Given the description of an element on the screen output the (x, y) to click on. 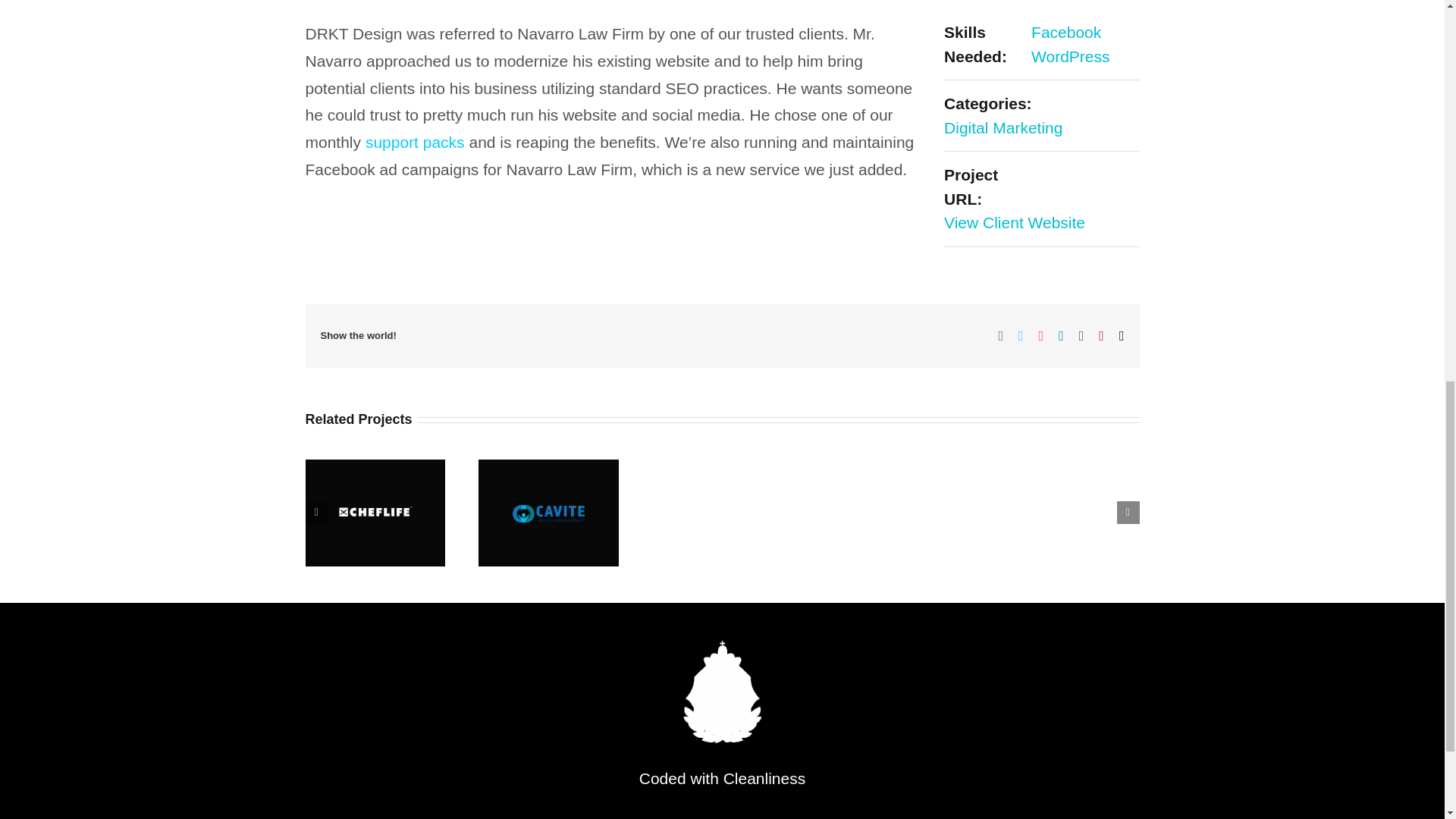
Facebook (1065, 31)
support packs (414, 141)
View Client Website (1013, 221)
WordPress (1069, 56)
Digital Marketing (1002, 127)
